Given the description of an element on the screen output the (x, y) to click on. 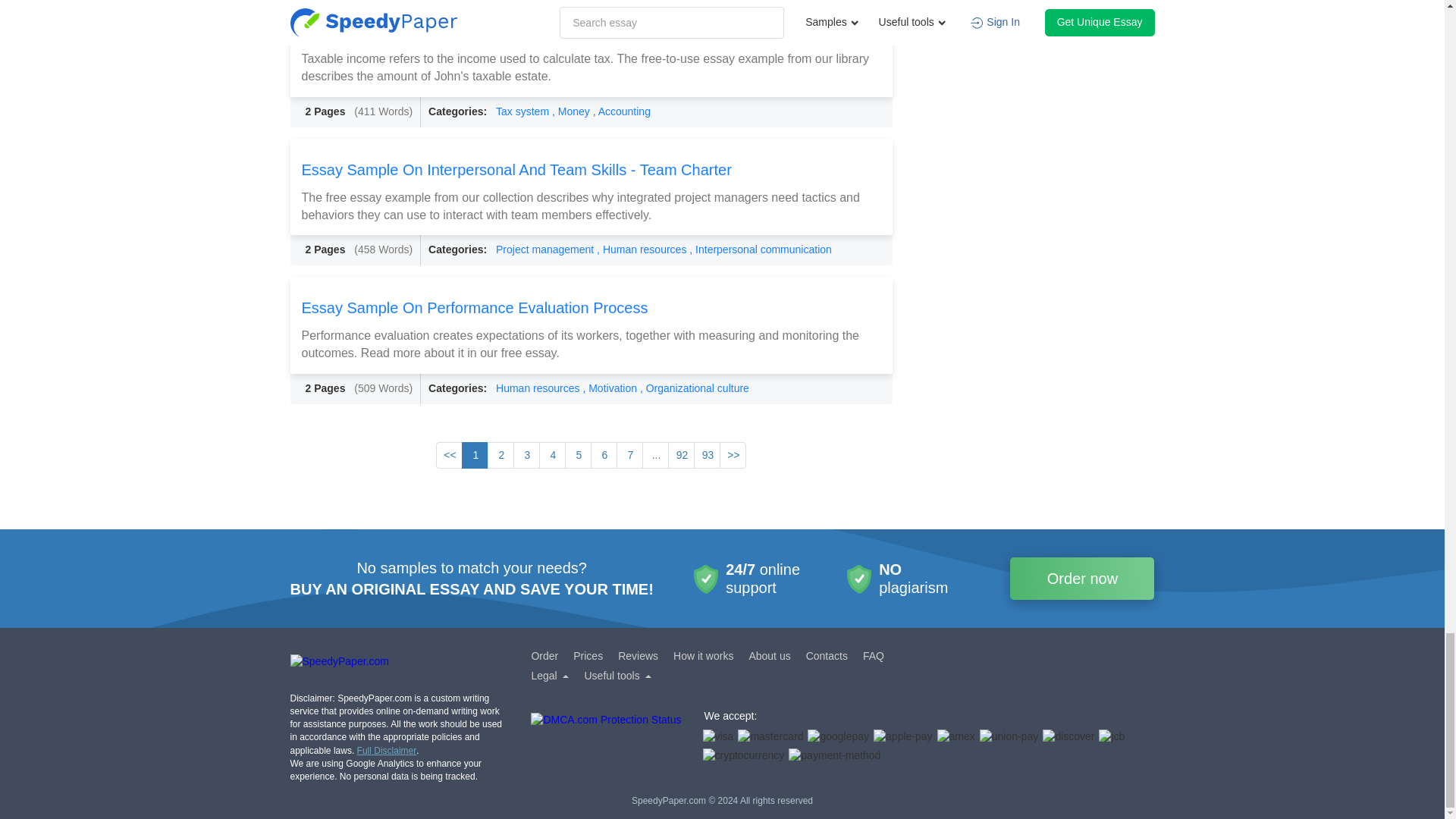
DMCA.com Protection Status (606, 738)
visa (717, 736)
current page (474, 455)
